Given the description of an element on the screen output the (x, y) to click on. 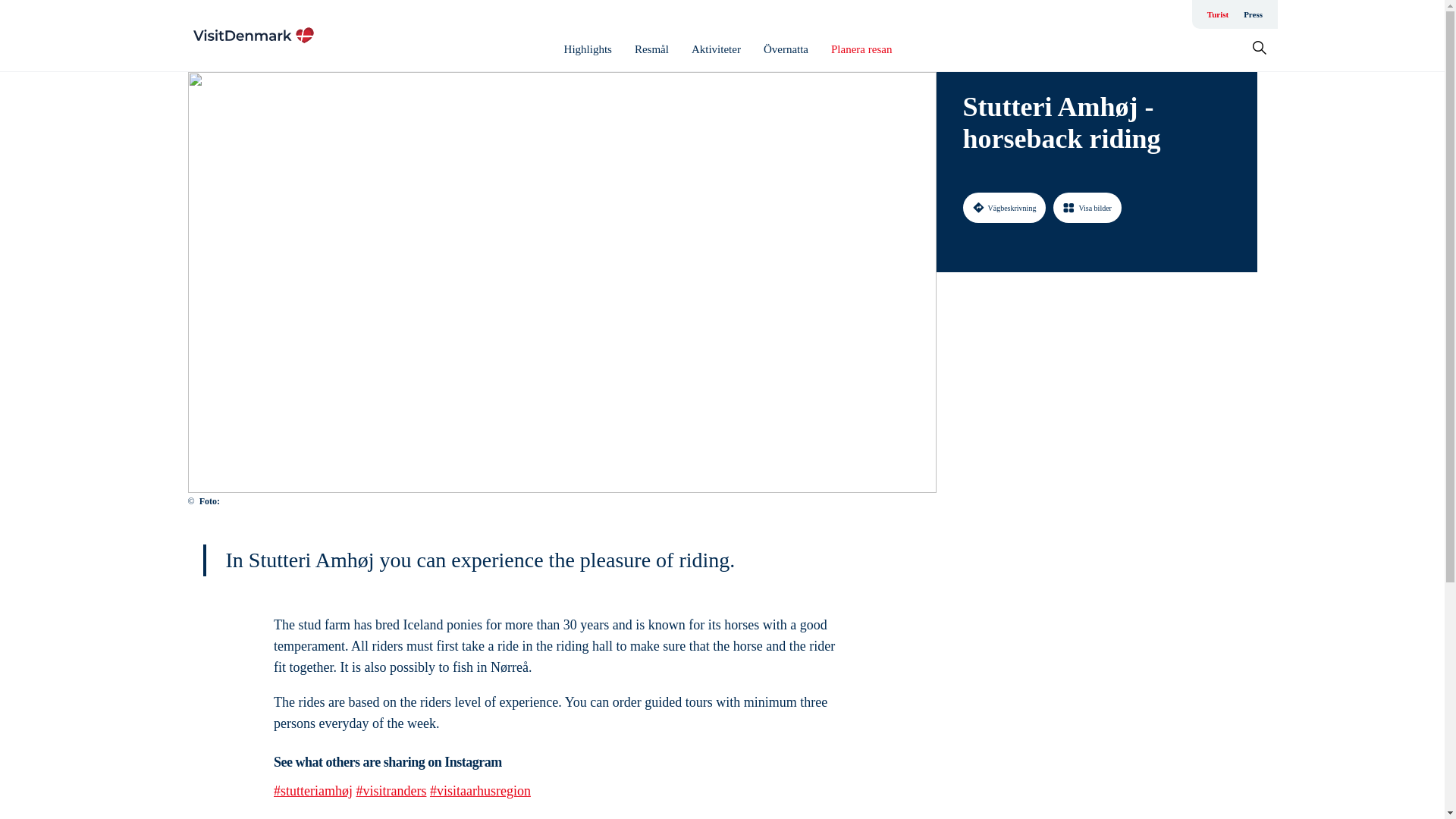
Aktiviteter (716, 49)
Planera resan (861, 49)
Go to homepage (253, 35)
Press (1252, 14)
Highlights (587, 49)
Turist (1217, 14)
Visa bilder (1086, 207)
